Given the description of an element on the screen output the (x, y) to click on. 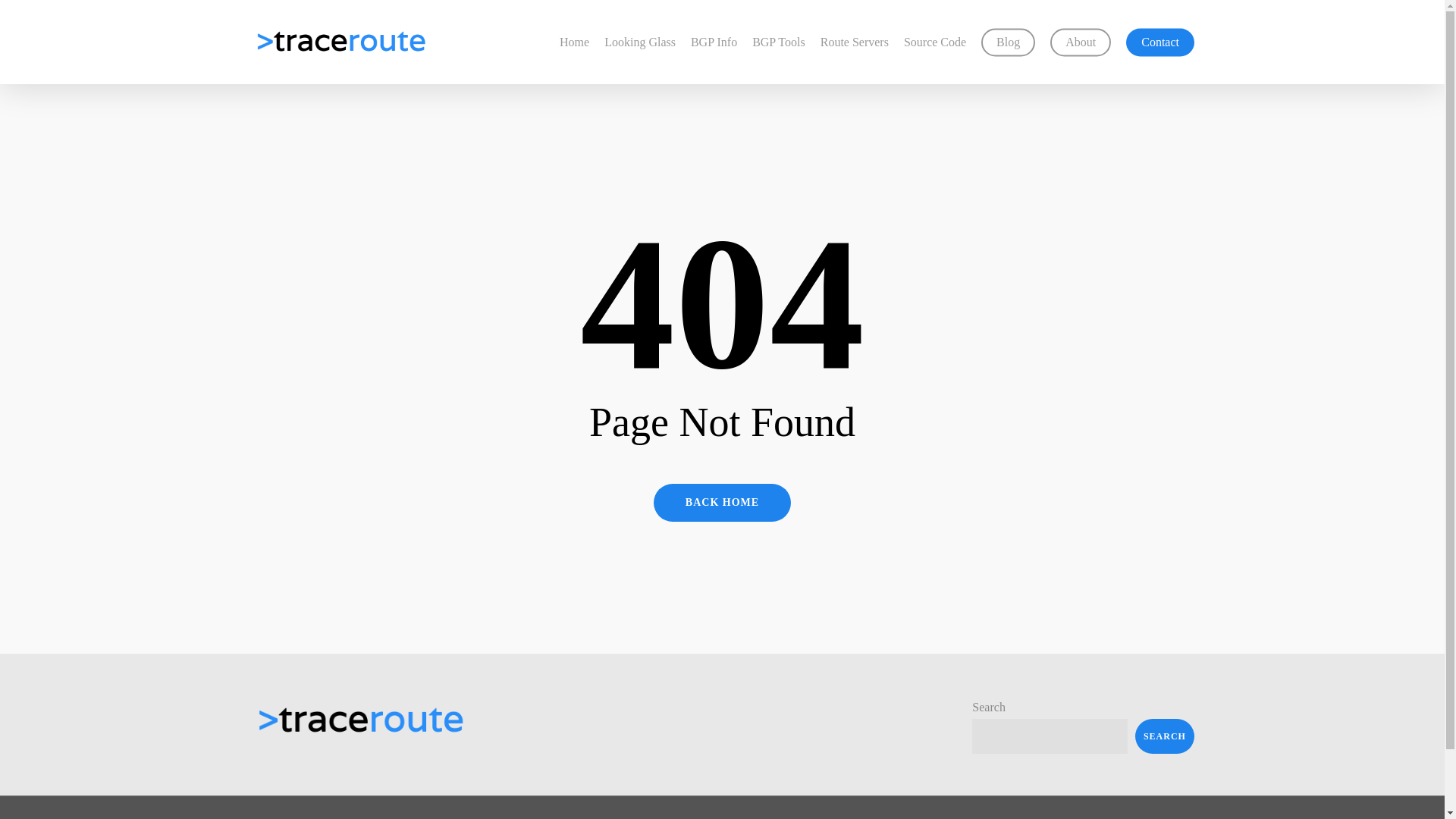
Blog (1008, 42)
Home (574, 42)
Route Servers (854, 42)
About (1079, 42)
Looking Glass (639, 42)
BGP Info (713, 42)
BGP Tools (778, 42)
Contact (1159, 42)
SEARCH (1164, 736)
BACK HOME (721, 502)
